Given the description of an element on the screen output the (x, y) to click on. 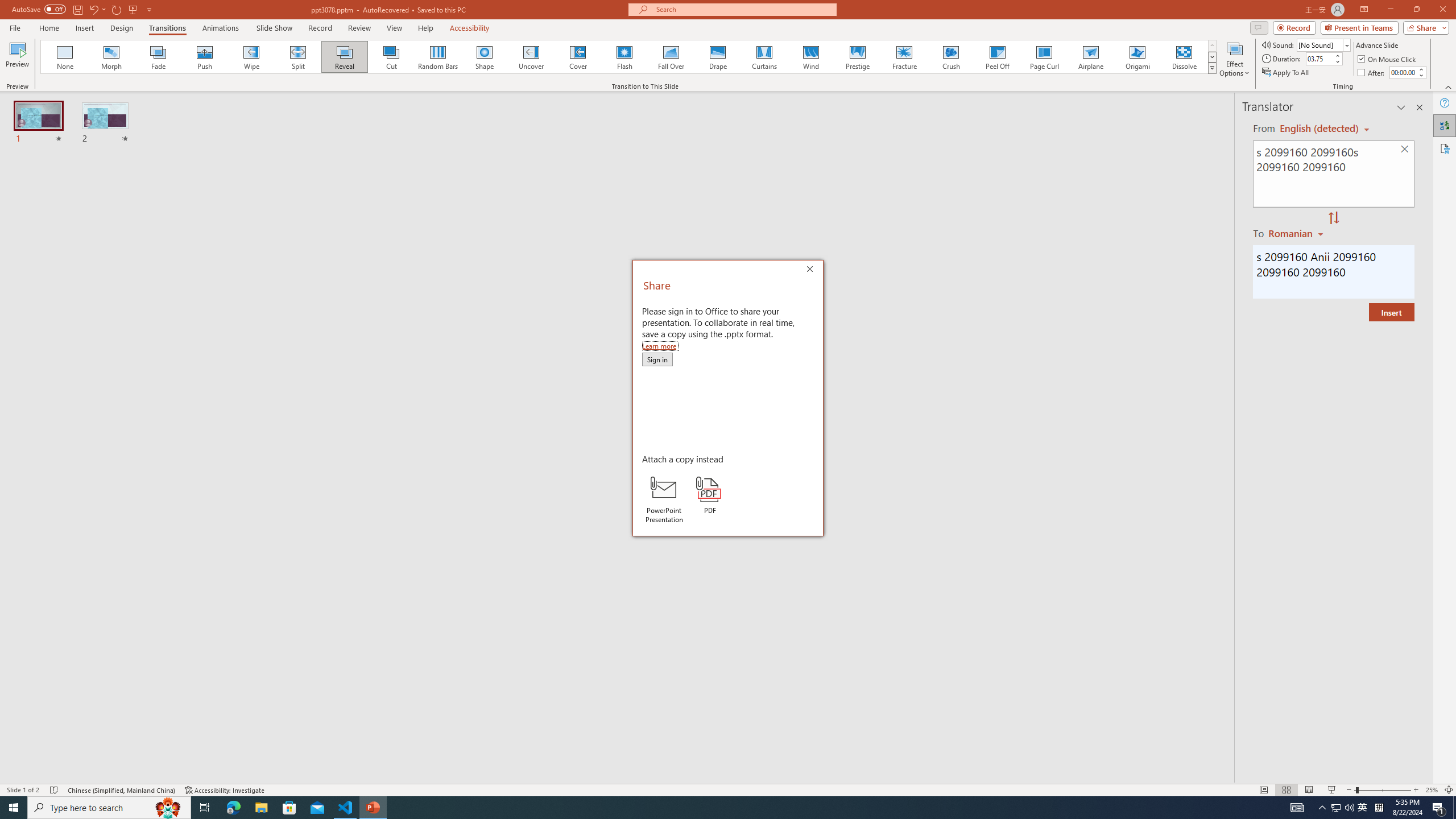
Fall Over (670, 56)
Zoom 25% (1431, 790)
Cover (577, 56)
Flash (624, 56)
